Given the description of an element on the screen output the (x, y) to click on. 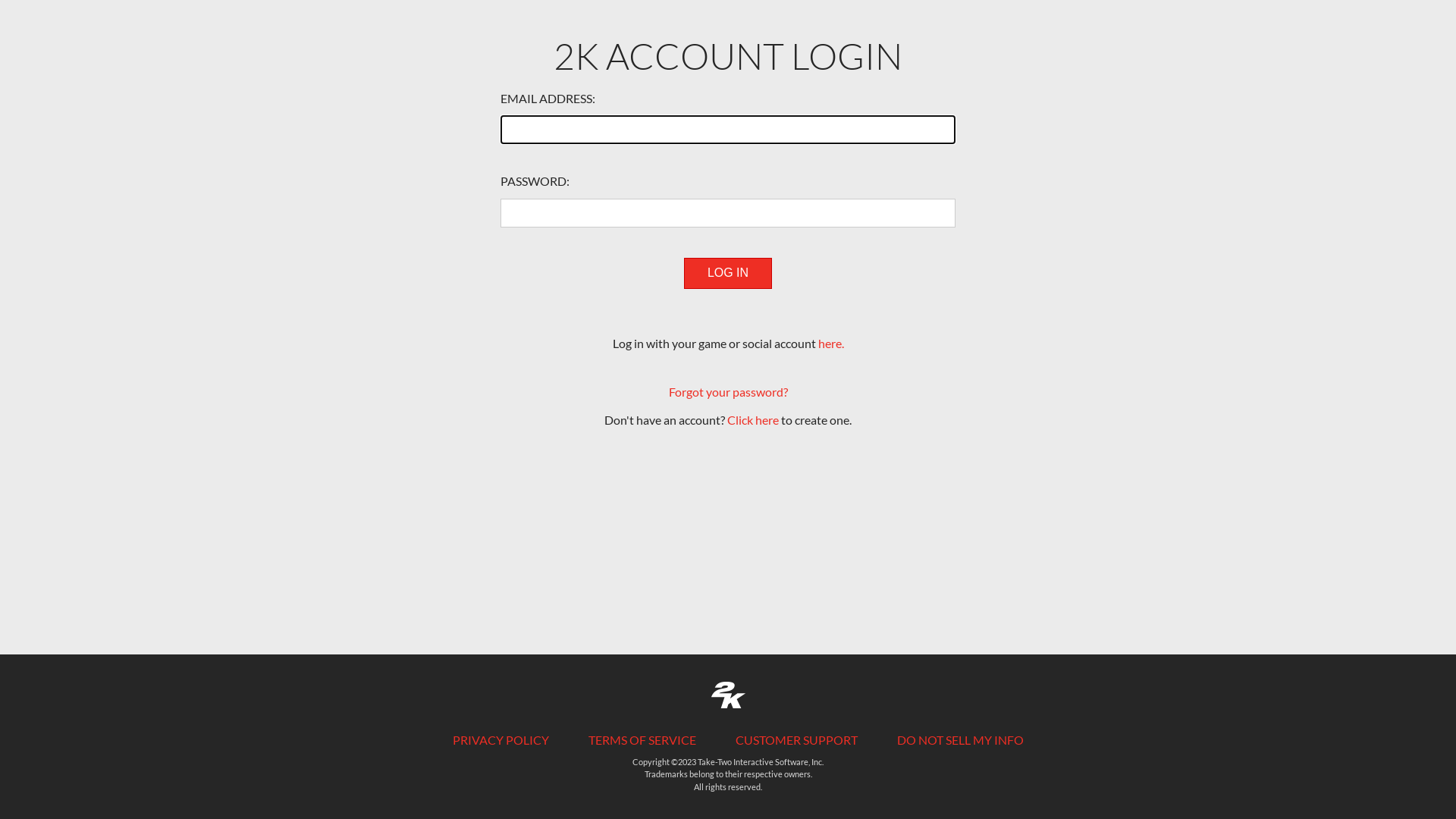
TERMS OF SERVICE Element type: text (642, 739)
Forgot your password? Element type: text (727, 390)
here. Element type: text (830, 342)
DO NOT SELL MY INFO Element type: text (959, 739)
CUSTOMER SUPPORT Element type: text (796, 739)
PRIVACY POLICY Element type: text (499, 739)
Log in Element type: text (727, 272)
Click here Element type: text (752, 419)
